Given the description of an element on the screen output the (x, y) to click on. 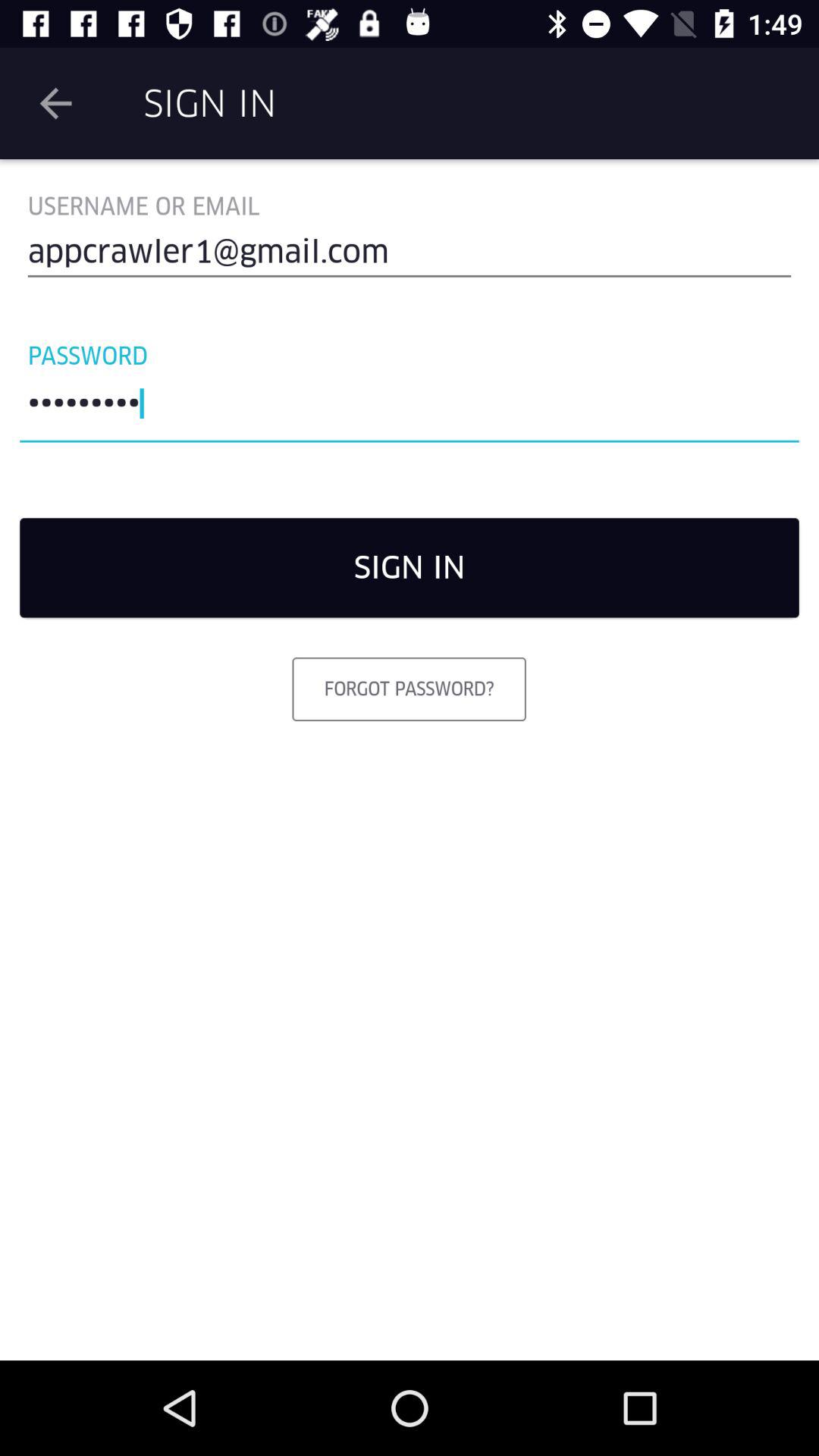
flip until the forgot password? (409, 689)
